Given the description of an element on the screen output the (x, y) to click on. 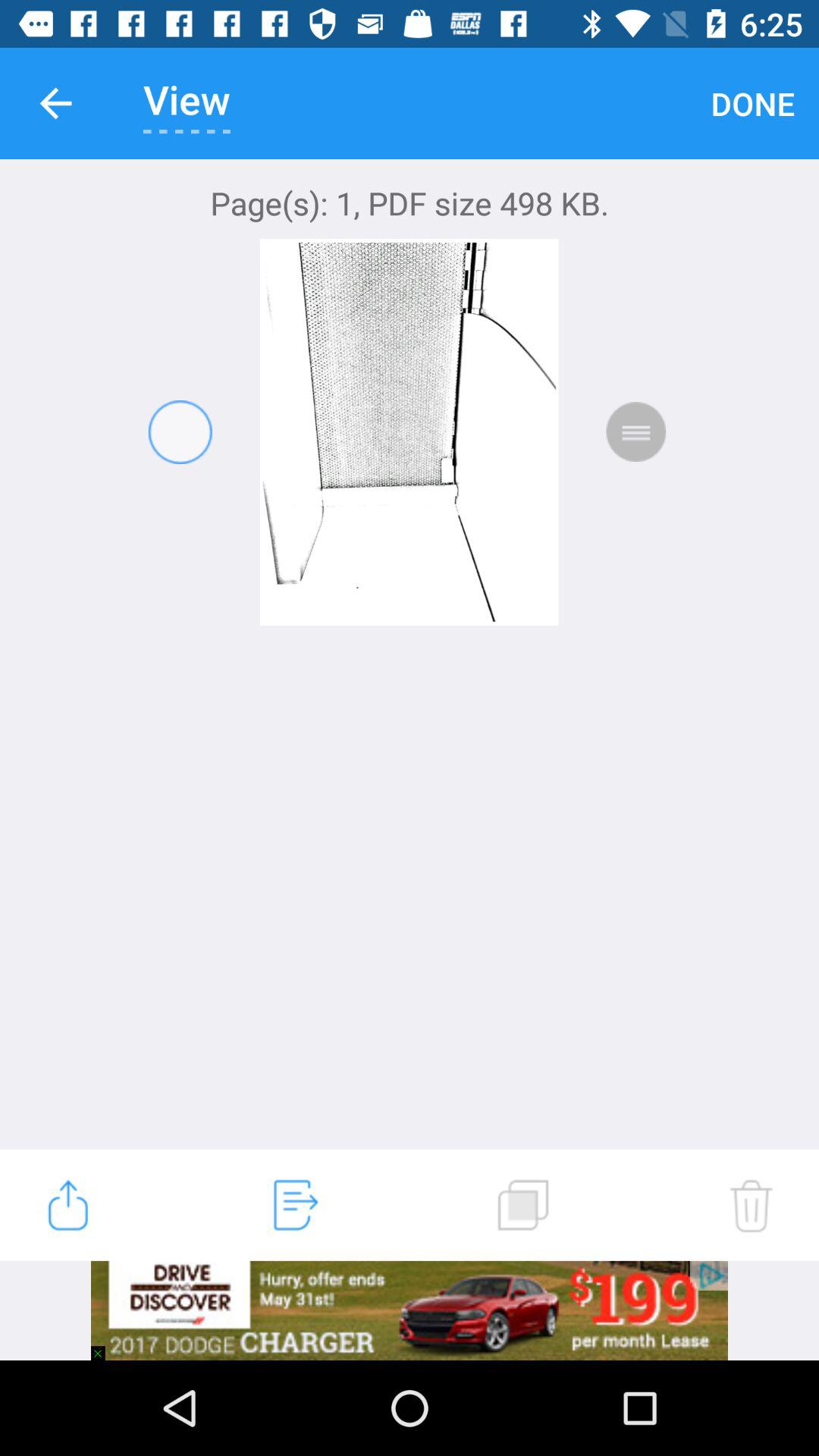
tap icon above the page s 1 item (753, 103)
